Given the description of an element on the screen output the (x, y) to click on. 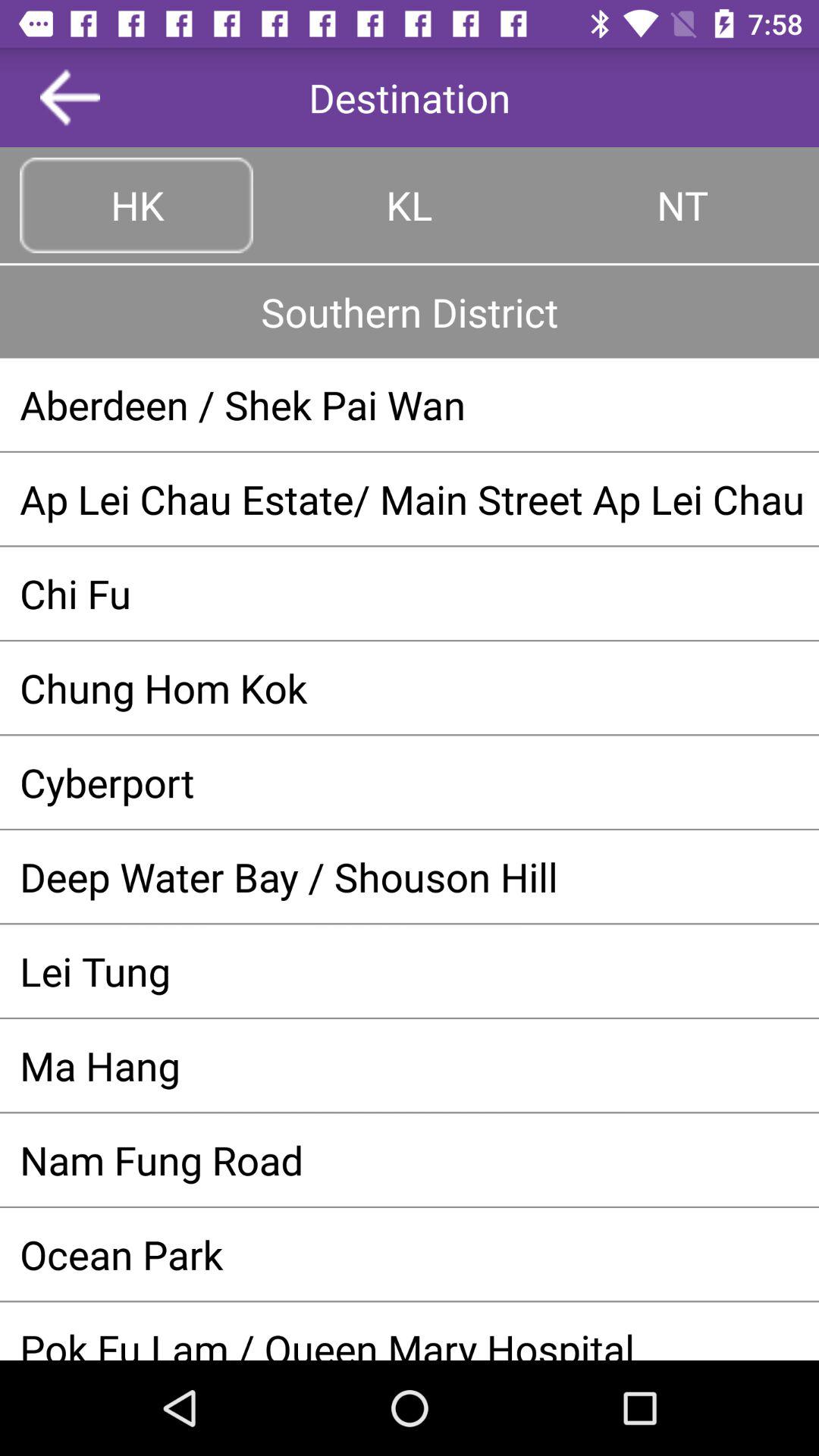
press the button above the hk icon (69, 97)
